Given the description of an element on the screen output the (x, y) to click on. 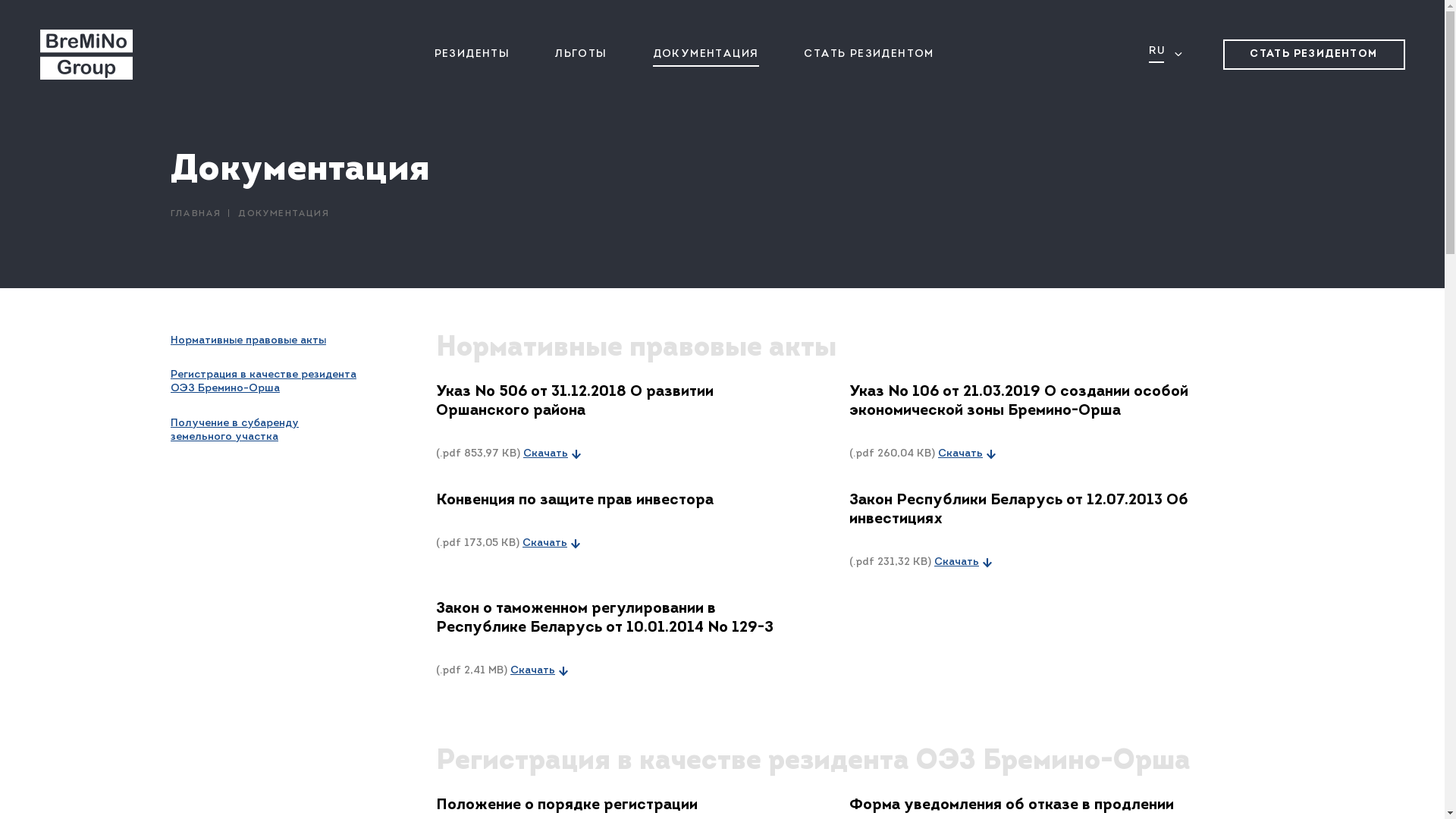
RU Element type: text (1157, 51)
